Given the description of an element on the screen output the (x, y) to click on. 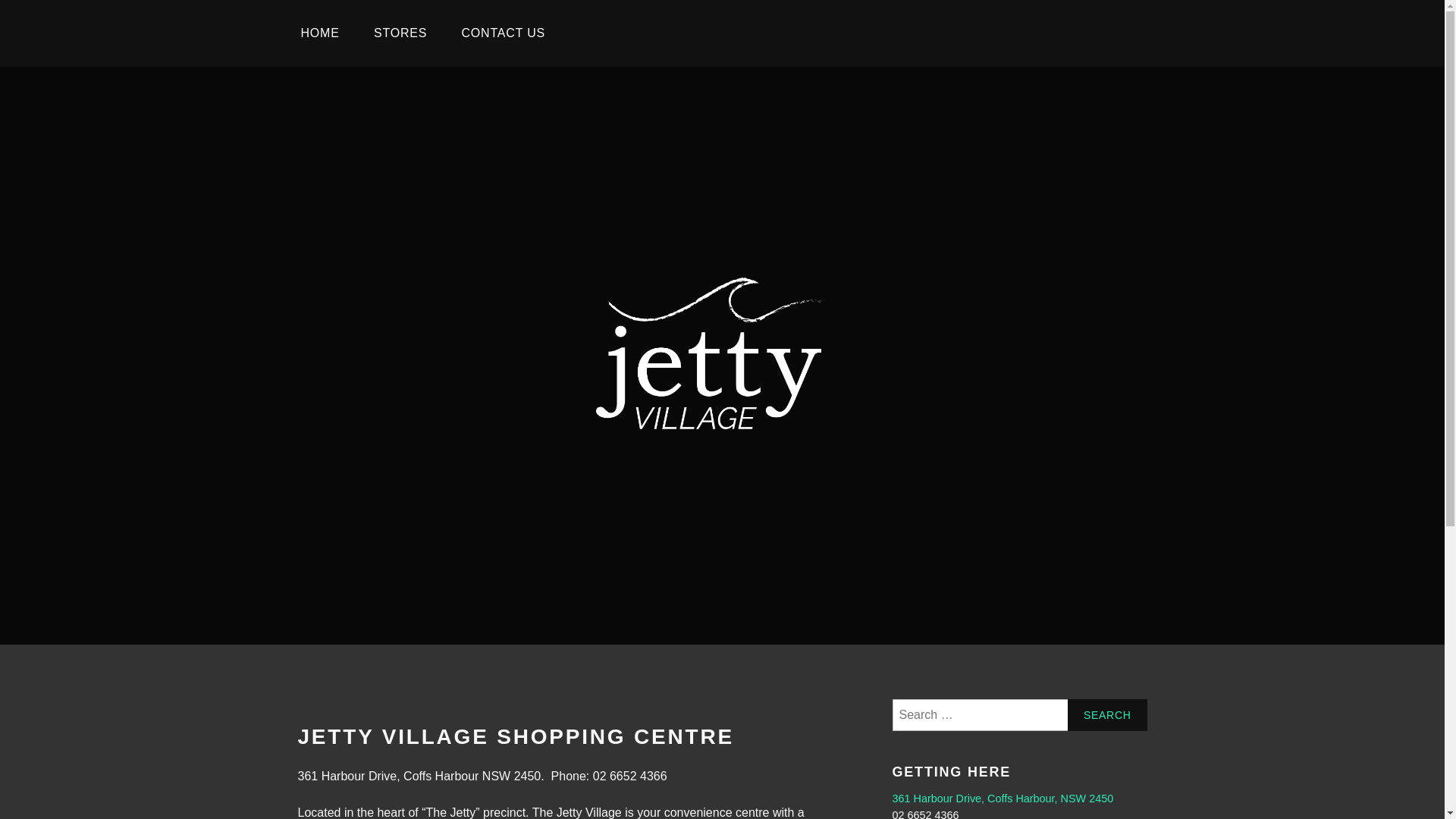
STORES Element type: text (400, 33)
CONTACT US Element type: text (503, 33)
HOME Element type: text (319, 33)
361 Harbour Drive, Coffs Harbour, NSW 2450 Element type: text (1002, 799)
JETTY VILLAGE SHOPPING CENTRE Element type: text (515, 736)
Search Element type: text (1107, 715)
JETTY VILLAGE Element type: text (734, 501)
